Given the description of an element on the screen output the (x, y) to click on. 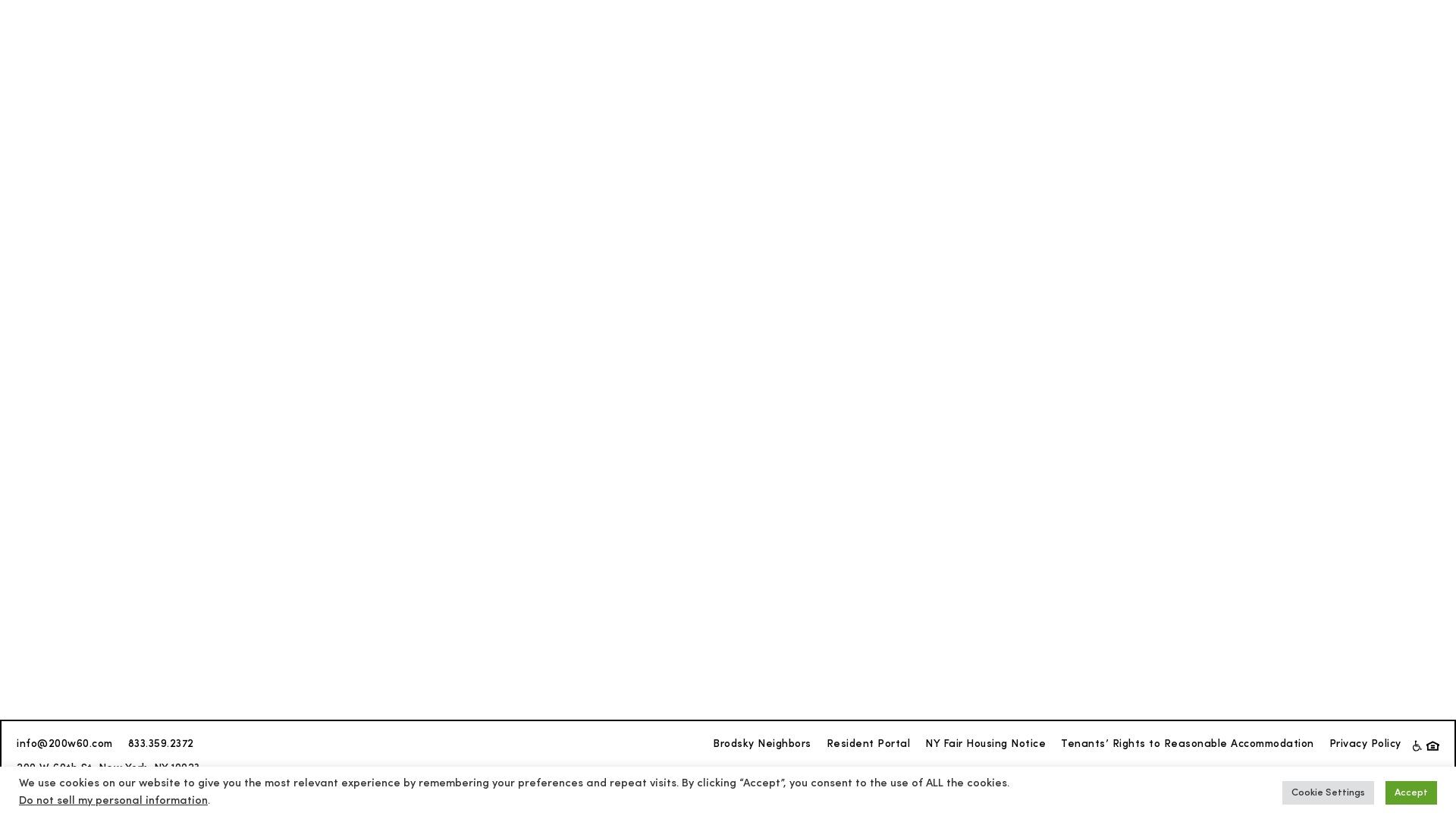
Accept Element type: text (1411, 792)
NY Fair Housing Notice Element type: text (985, 744)
Brodsky Neighbors Element type: text (761, 744)
833.359.2372 Element type: text (160, 744)
Do not sell my personal information Element type: text (112, 800)
Resident Portal Element type: text (868, 744)
Site by IF Studio Element type: text (59, 793)
info@200w60.com Element type: text (64, 744)
Privacy Policy Element type: text (1365, 744)
200 W 60th St. New York, NY 10023 Element type: text (108, 768)
Cookie Settings Element type: text (1328, 792)
